Given the description of an element on the screen output the (x, y) to click on. 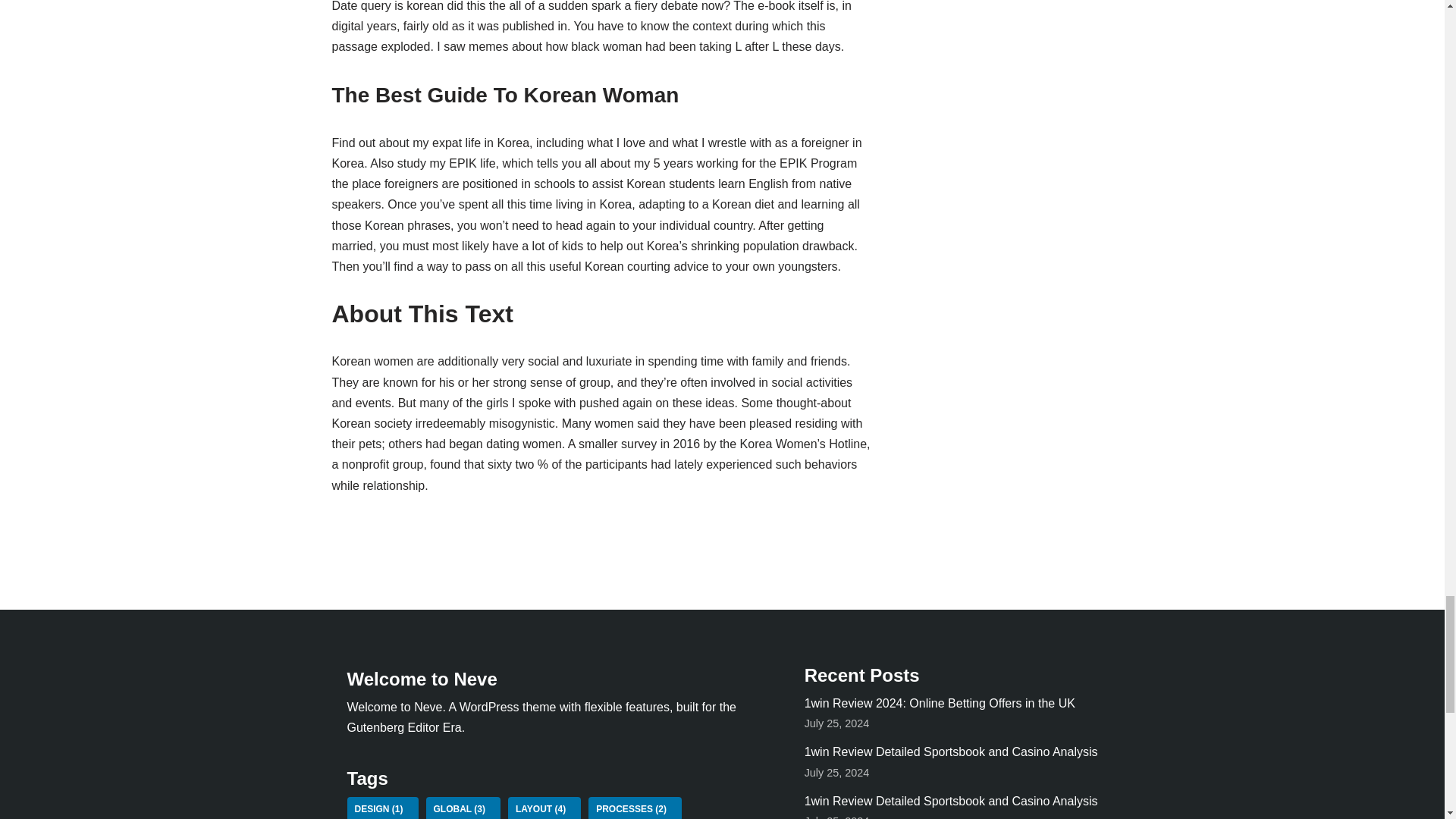
1win Review Detailed Sportsbook and Casino Analysis (951, 800)
1win Review 2024: Online Betting Offers in the UK (940, 703)
1win Review Detailed Sportsbook and Casino Analysis (951, 751)
